Given the description of an element on the screen output the (x, y) to click on. 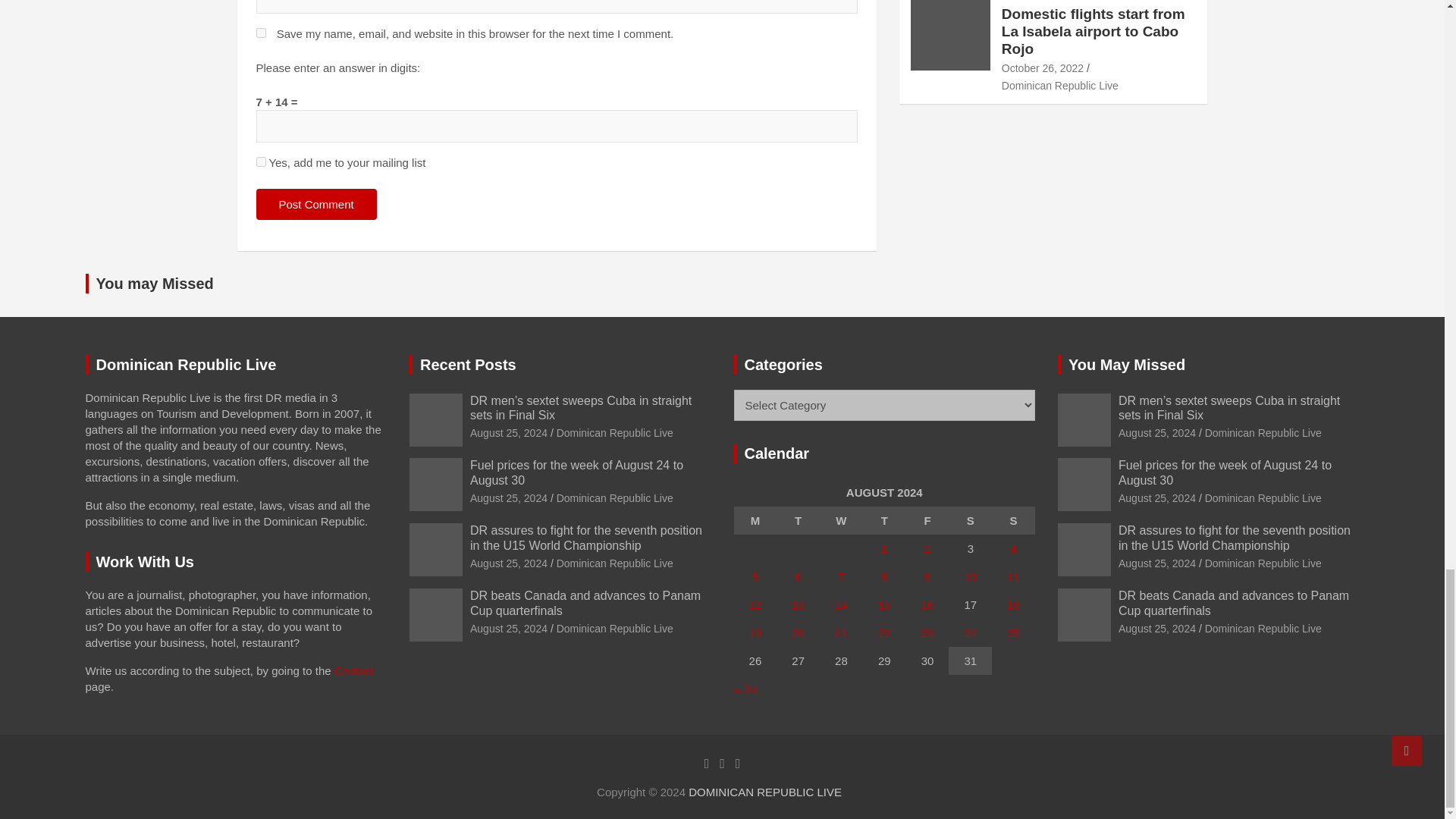
1 (261, 162)
Post Comment (316, 204)
Post Comment (316, 204)
yes (261, 32)
Domestic flights start from La Isabela airport to Cabo Rojo (1042, 68)
